Given the description of an element on the screen output the (x, y) to click on. 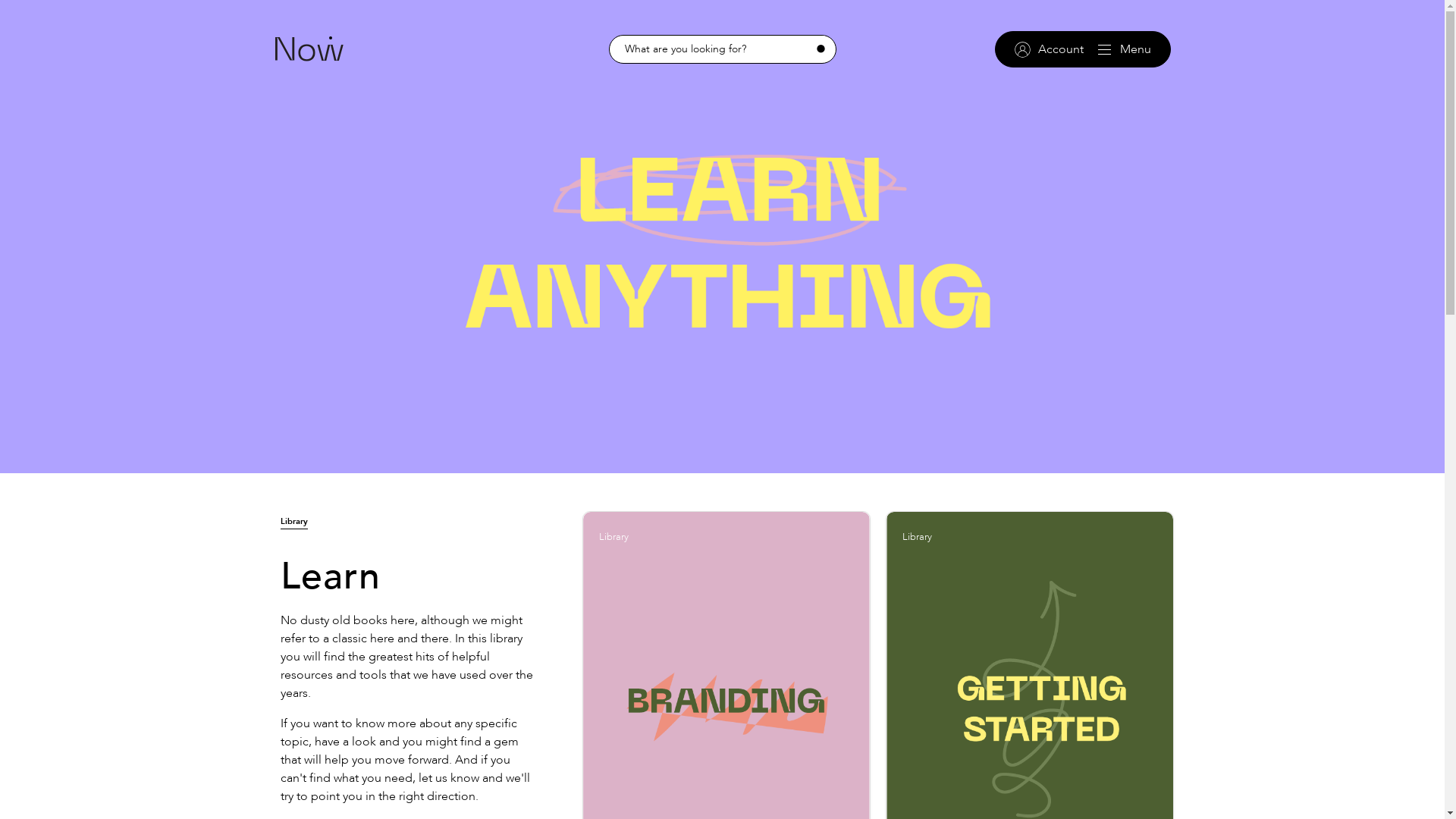
Account Element type: text (1048, 49)
Menu Element type: text (1124, 48)
